Given the description of an element on the screen output the (x, y) to click on. 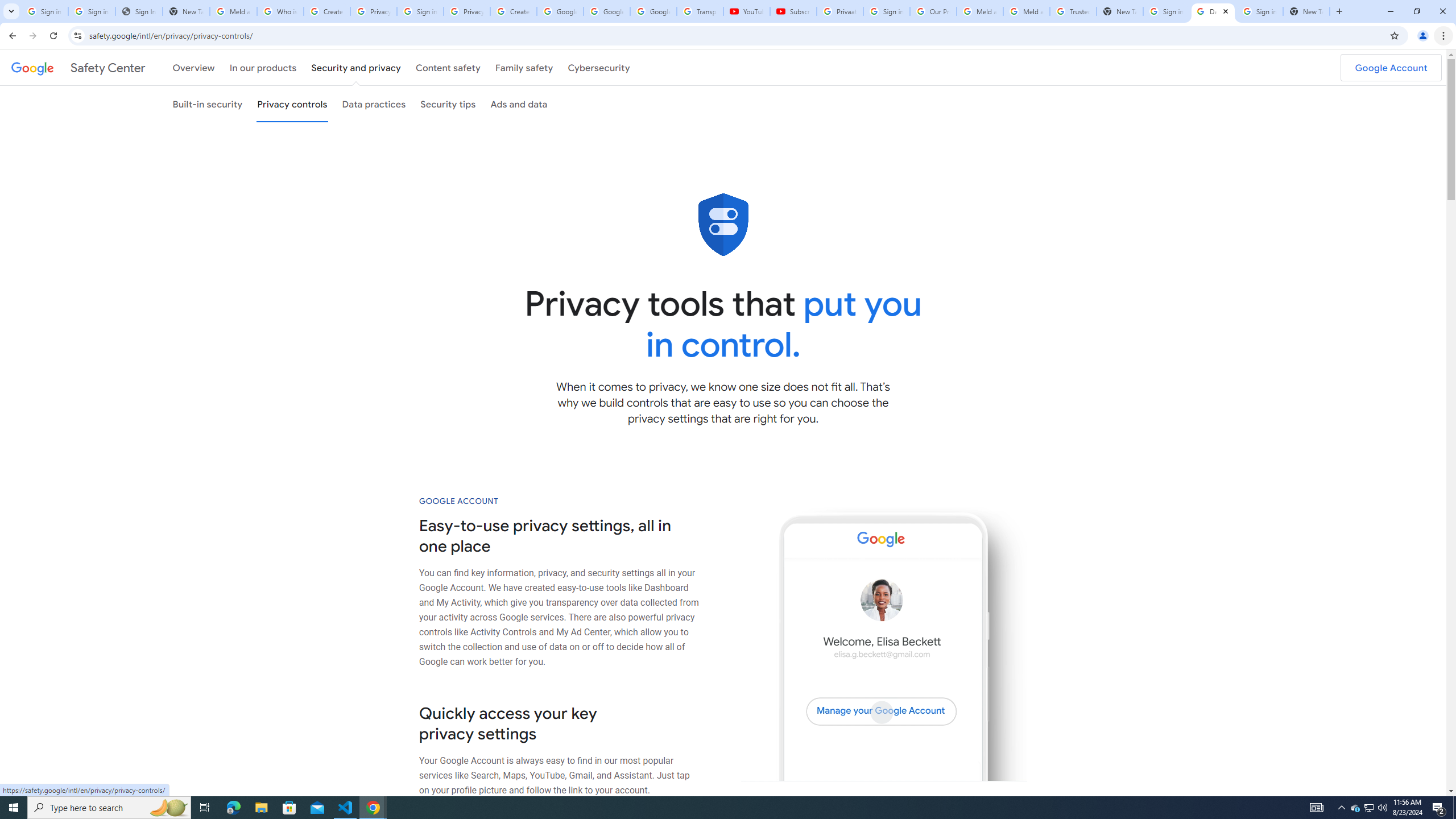
Sign in - Google Accounts (1259, 11)
Family safety (523, 67)
Content safety (447, 67)
New Tab (1306, 11)
Create your Google Account (512, 11)
Sign in - Google Accounts (419, 11)
